Given the description of an element on the screen output the (x, y) to click on. 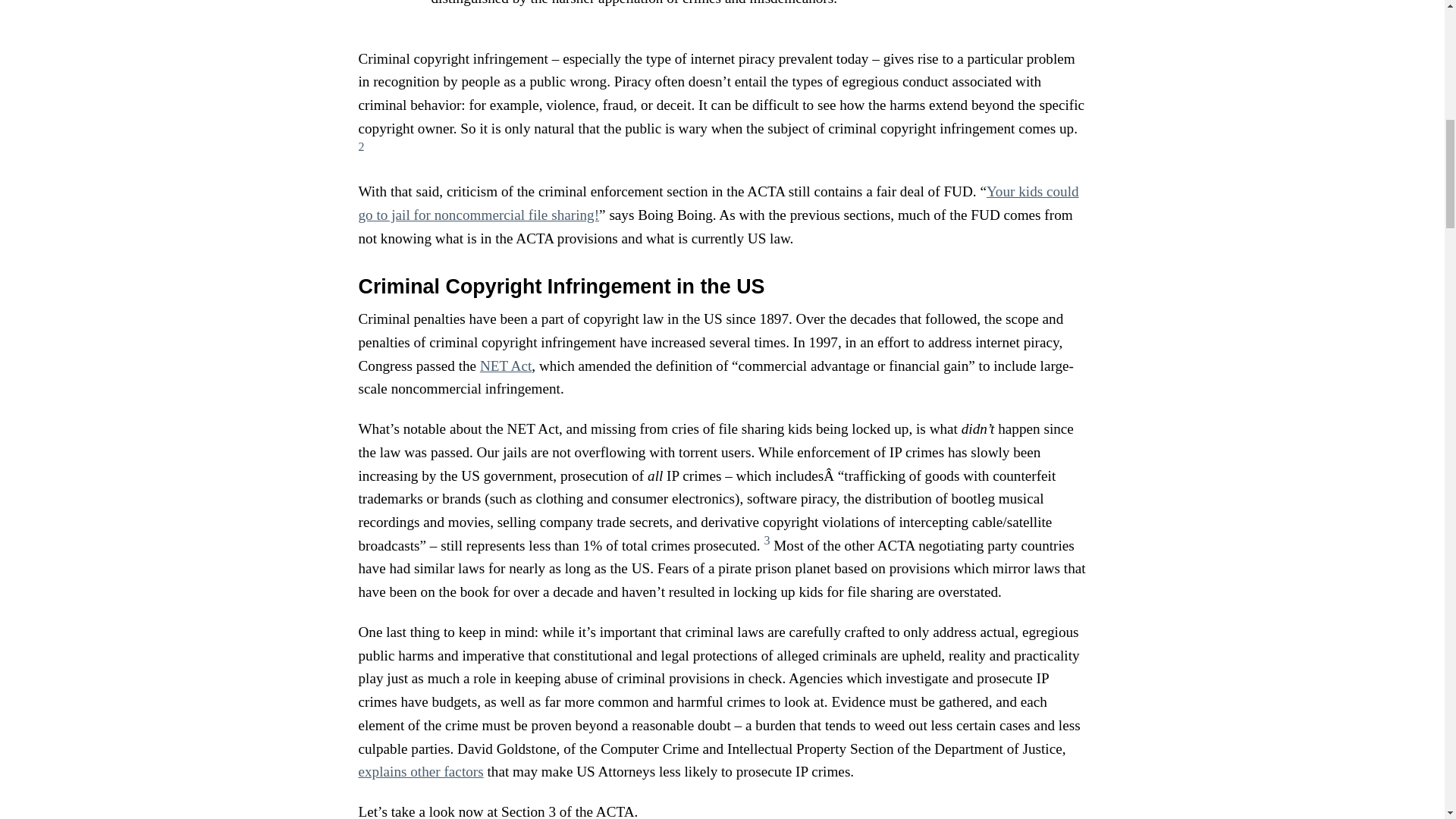
explains other factors (420, 771)
1 (844, 2)
NET Act (505, 365)
Your kids could go to jail for noncommercial file sharing! (718, 202)
